Given the description of an element on the screen output the (x, y) to click on. 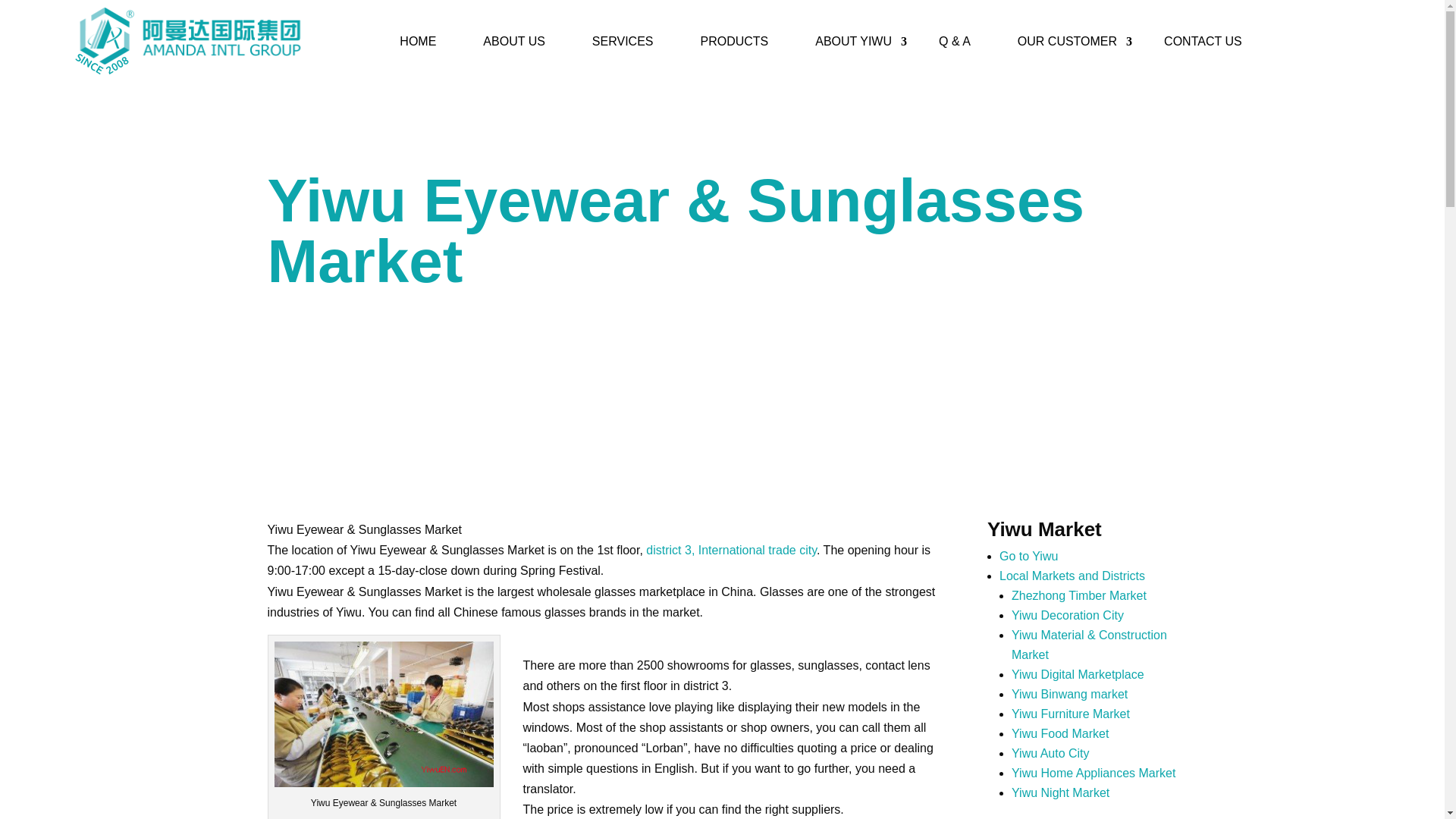
OUR CUSTOMER (1074, 40)
We are AMANDA INTL GROUP (188, 41)
district 3, International trade city (731, 549)
PRODUCTS (741, 40)
SERVICES (630, 40)
Go to Yiwu (1028, 555)
ABOUT YIWU (861, 40)
ABOUT US (521, 40)
Zhezhong Timber Market (1079, 594)
CONTACT US (1210, 40)
